Given the description of an element on the screen output the (x, y) to click on. 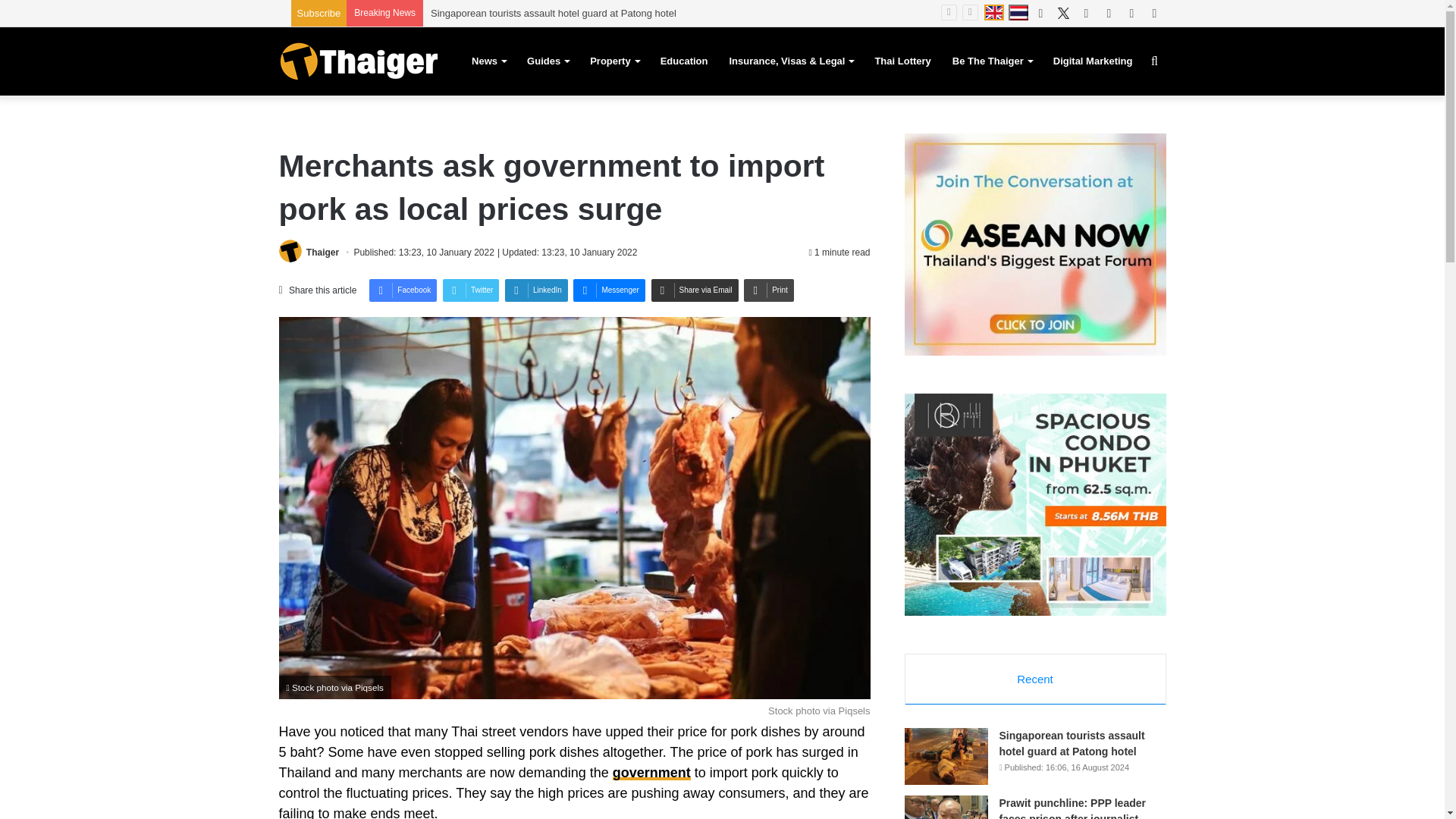
Subscribe (318, 12)
Facebook (402, 290)
Twitter (470, 290)
Share via Email (694, 290)
Thaiger (322, 252)
LinkedIn (536, 290)
Messenger (609, 290)
Print (768, 290)
Singaporean tourists assault hotel guard at Patong hotel (553, 12)
Thaiger (358, 60)
